Given the description of an element on the screen output the (x, y) to click on. 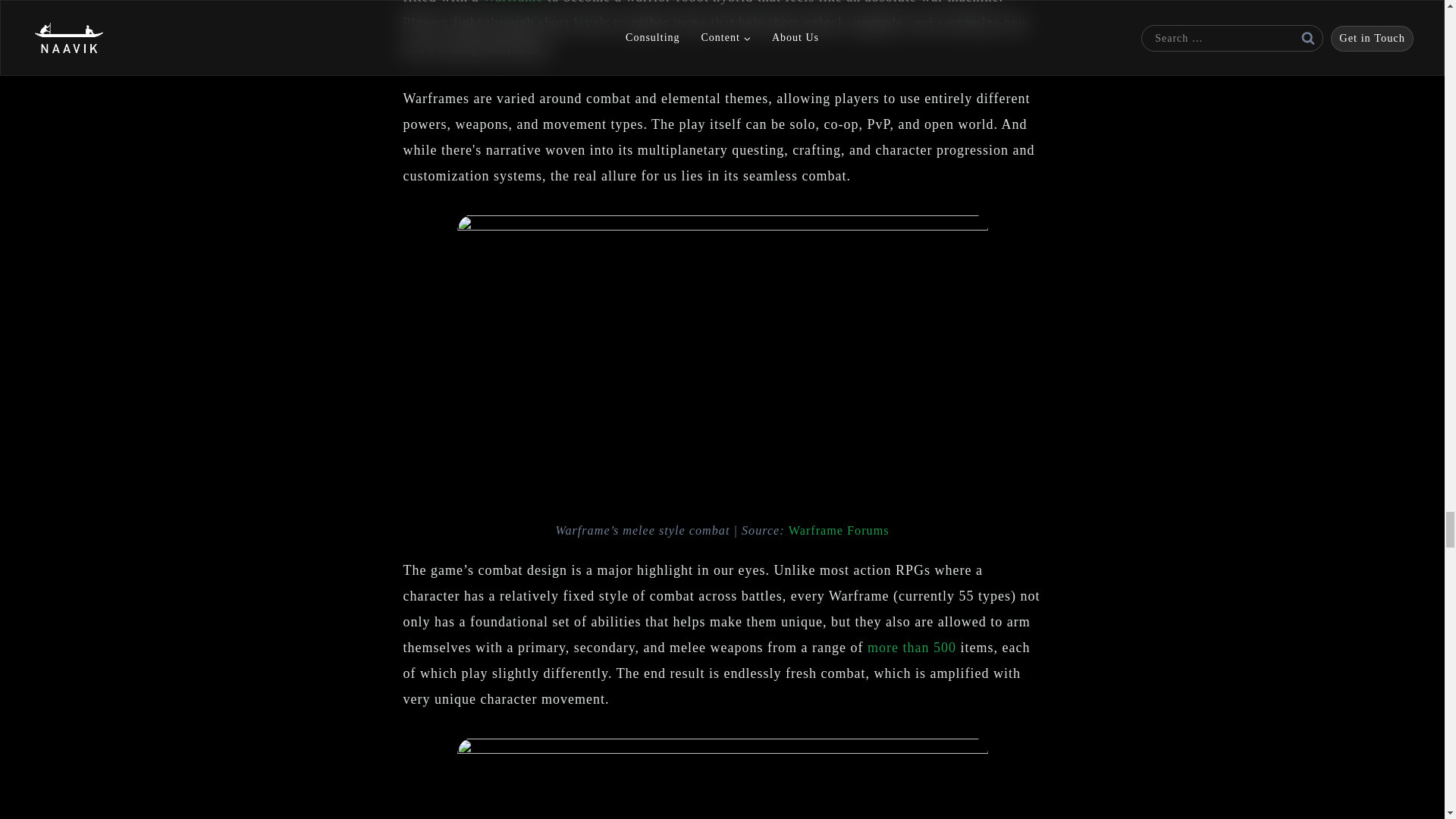
Warframe Forums (839, 530)
Warframe (513, 2)
more than 500 (911, 647)
